Given the description of an element on the screen output the (x, y) to click on. 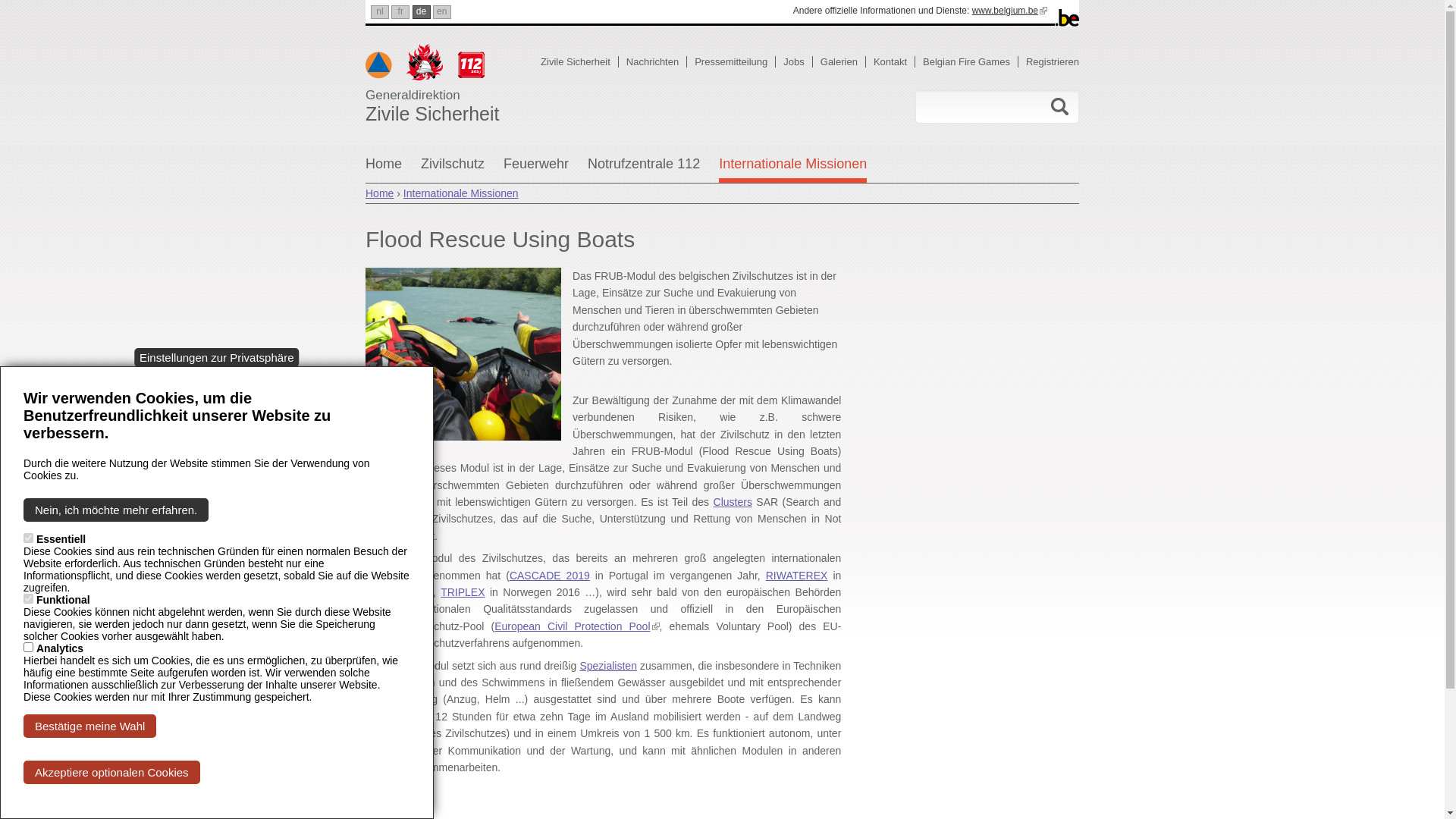
Geben Sie die Begriffe ein, nach denen Sie suchen. Element type: hover (975, 106)
Internationale Missionen Element type: text (460, 193)
fr Element type: text (400, 11)
CASCADE 2019 Element type: text (549, 575)
Feuerwehr Element type: text (535, 169)
Clusters Element type: text (732, 501)
Spezialisten Element type: text (608, 665)
Registrieren Element type: text (1052, 61)
Akzeptiere optionalen Cookies Element type: text (111, 772)
Jobs Element type: text (797, 61)
www.belgium.be
(link is external) Element type: text (1009, 10)
European Civil Protection Pool
(link is external) Element type: text (576, 626)
Home Element type: text (383, 169)
Home Element type: text (379, 193)
Zivile Sicherheit Element type: text (579, 61)
nl Element type: text (379, 11)
de Element type: text (421, 11)
Pressemitteilung Element type: text (734, 61)
Internationale Missionen Element type: text (792, 169)
TRIPLEX Element type: text (462, 592)
en Element type: text (442, 11)
RIWATEREX Element type: text (796, 575)
Belgian Fire Games Element type: text (970, 61)
Kontakt Element type: text (894, 61)
Notrufzentrale 112 Element type: text (643, 169)
Nachrichten Element type: text (656, 61)
Suchen Element type: text (1059, 106)
Galerien Element type: text (843, 61)
Zivilschutz Element type: text (452, 169)
